Given the description of an element on the screen output the (x, y) to click on. 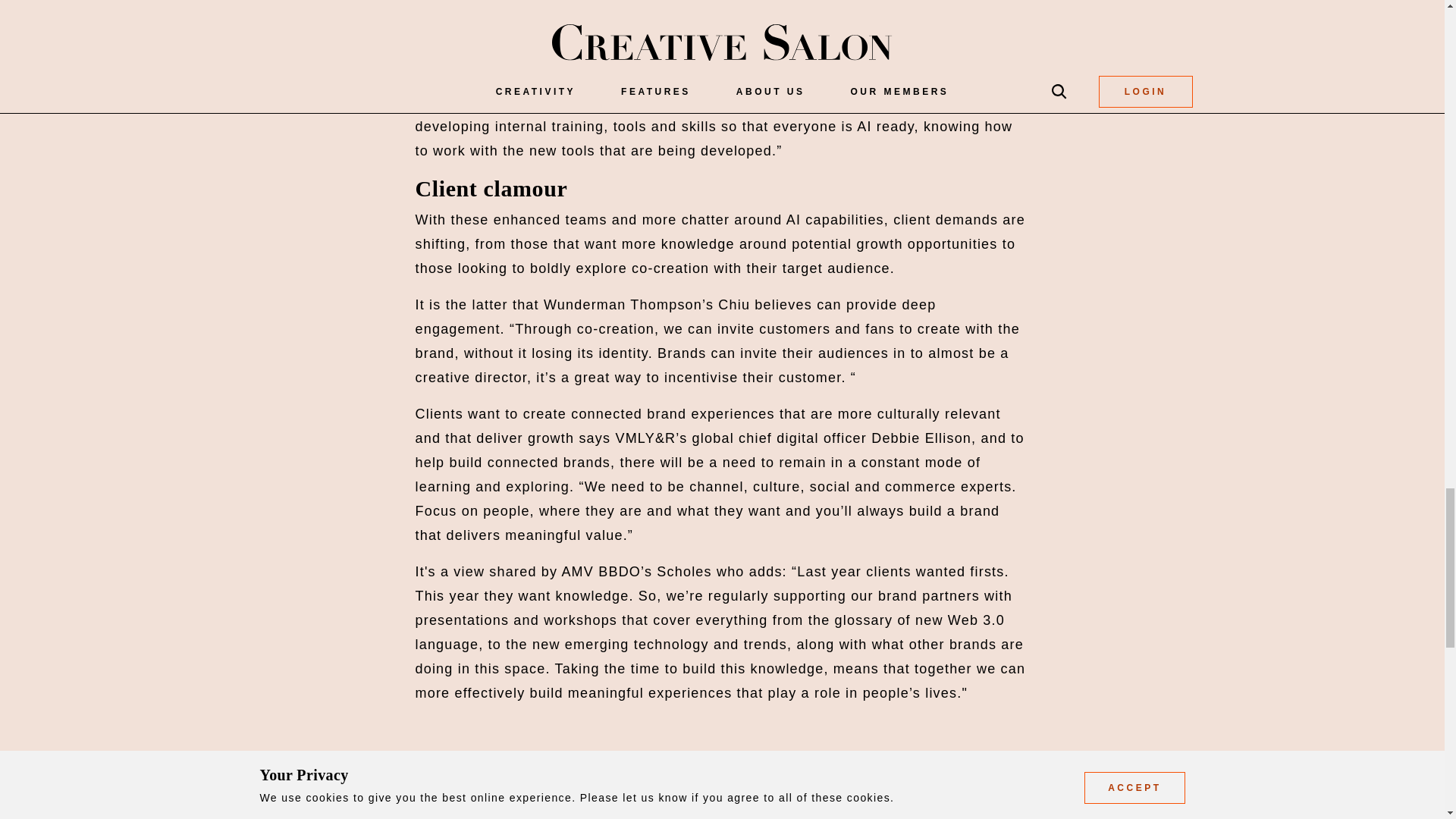
Twitter (494, 802)
LinkedIn (433, 802)
